Given the description of an element on the screen output the (x, y) to click on. 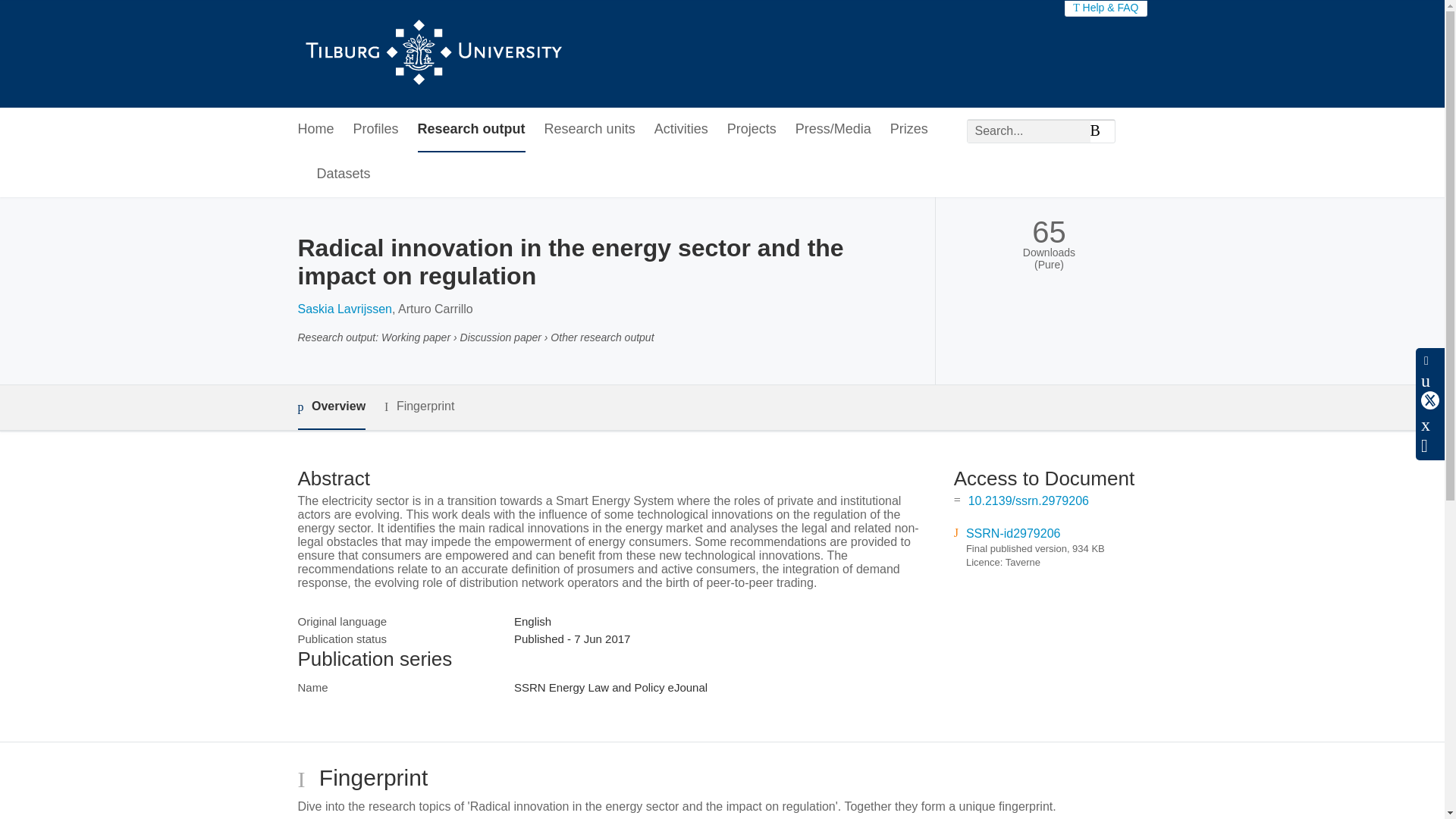
Overview (331, 406)
Activities (680, 129)
Research units (589, 129)
Fingerprint (419, 406)
Datasets (344, 174)
Research output (471, 129)
Saskia Lavrijssen (344, 308)
Projects (751, 129)
Tilburg University Research Portal Home (433, 53)
Profiles (375, 129)
